Given the description of an element on the screen output the (x, y) to click on. 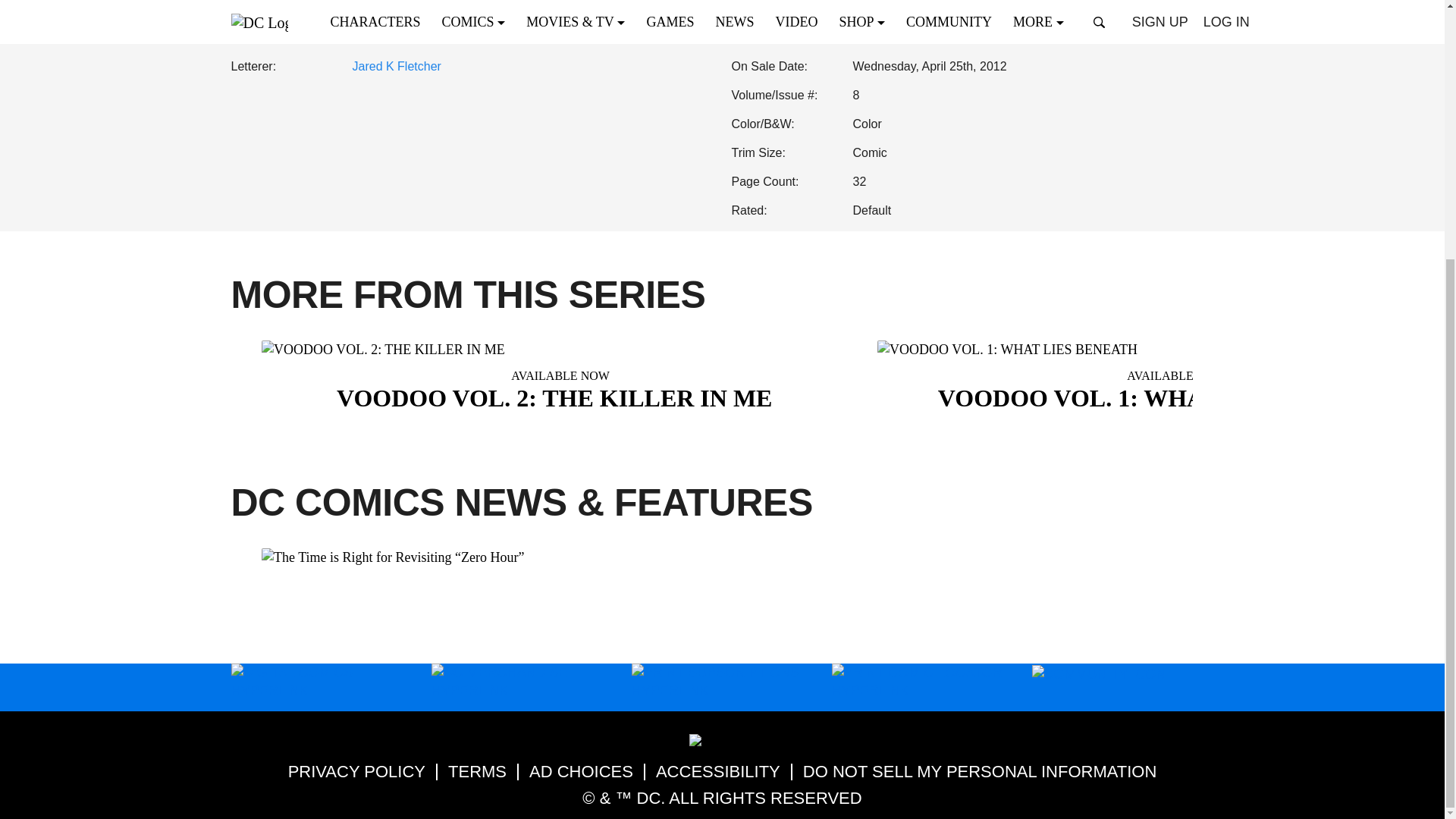
VOODOO VOL. 2: THE KILLER IN ME  (559, 388)
VOODOO VOL. 2: THE KILLER IN ME  (559, 378)
VOODOO VOL. 2: THE KILLER IN ME  (559, 348)
